Given the description of an element on the screen output the (x, y) to click on. 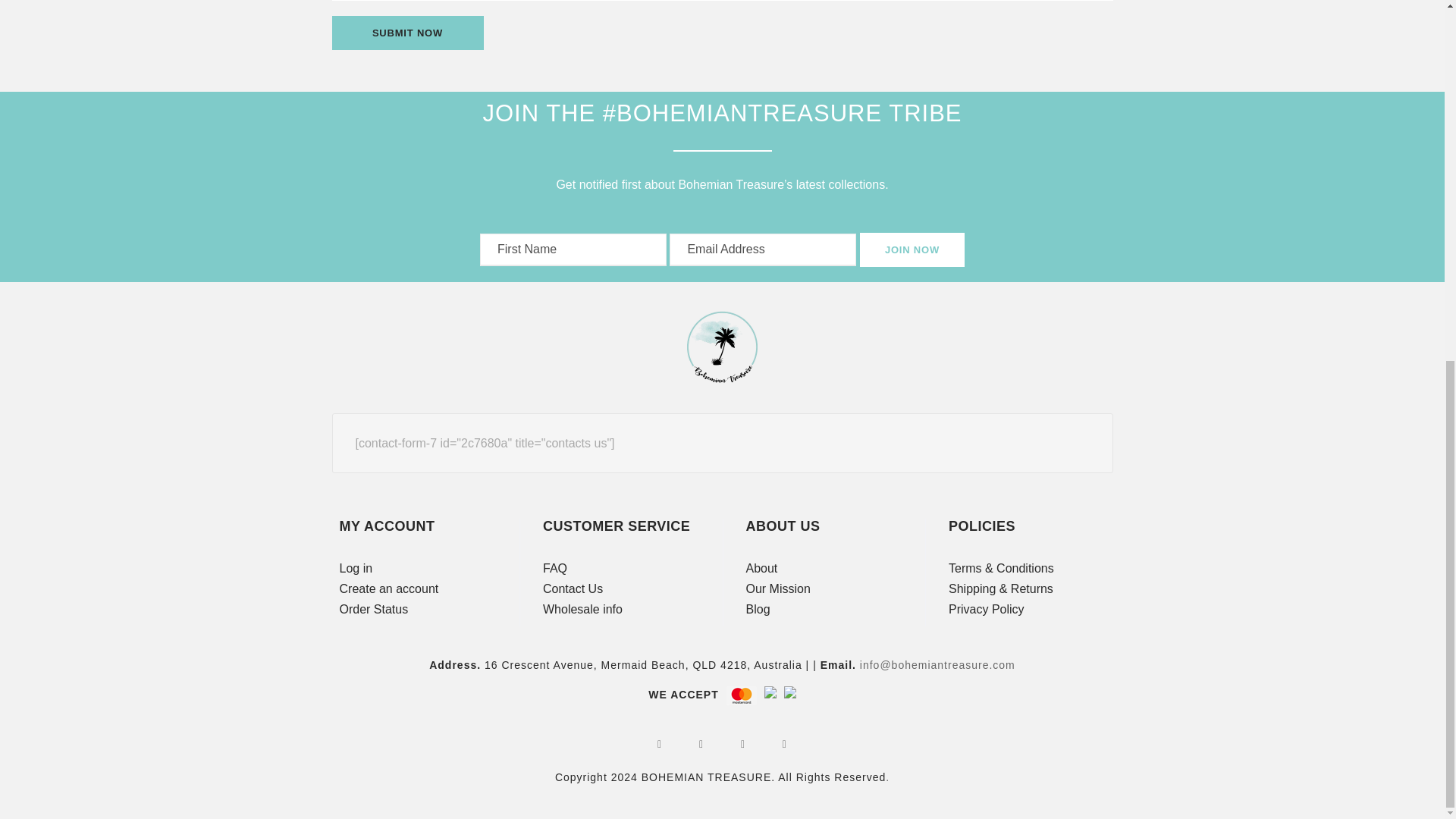
Join Now (911, 249)
Submit Now (407, 32)
